Given the description of an element on the screen output the (x, y) to click on. 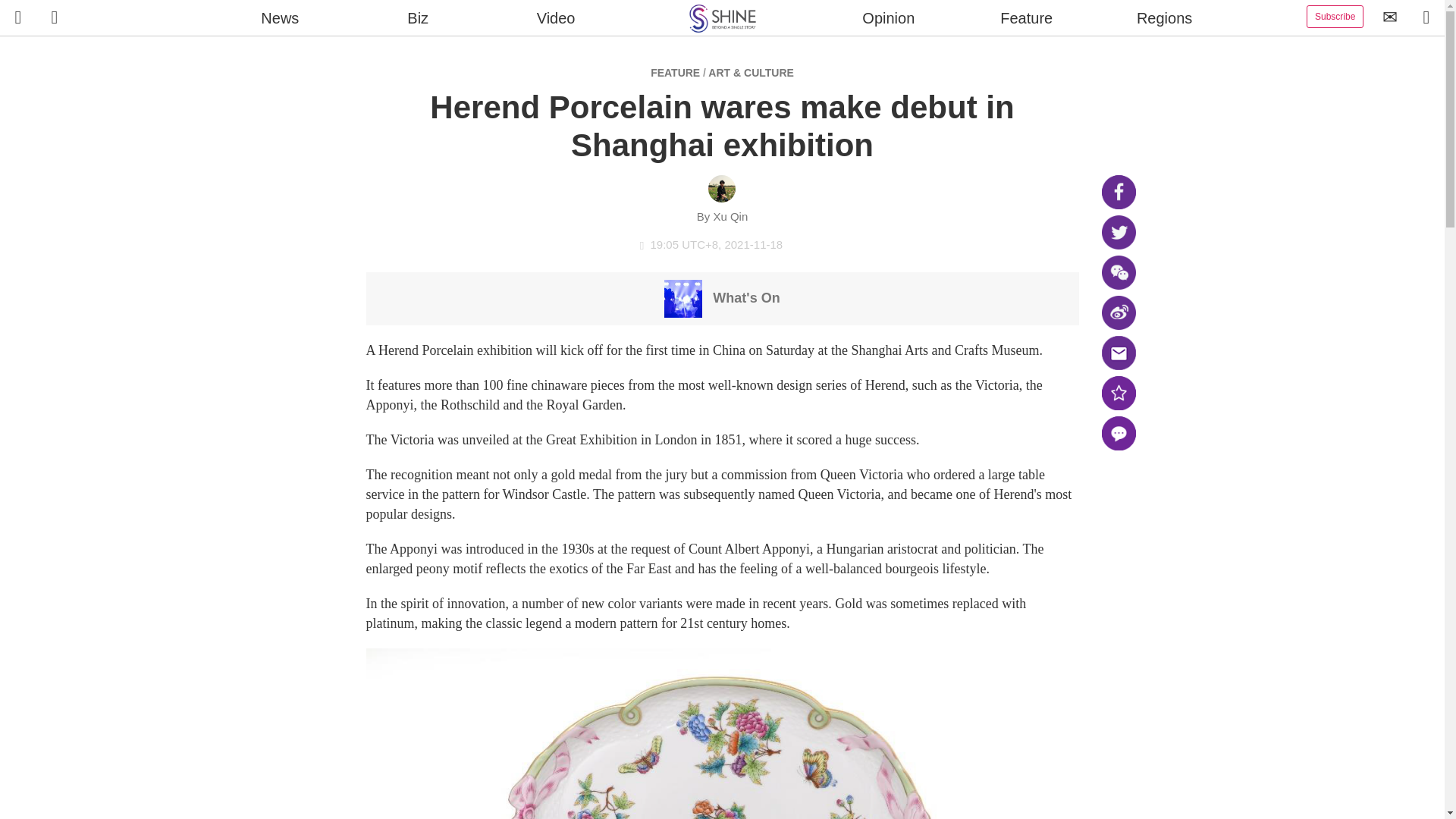
FEATURE (675, 72)
Share your comments (1117, 433)
What's On (720, 297)
Share via email (1117, 352)
Add to favorites (1117, 392)
